Given the description of an element on the screen output the (x, y) to click on. 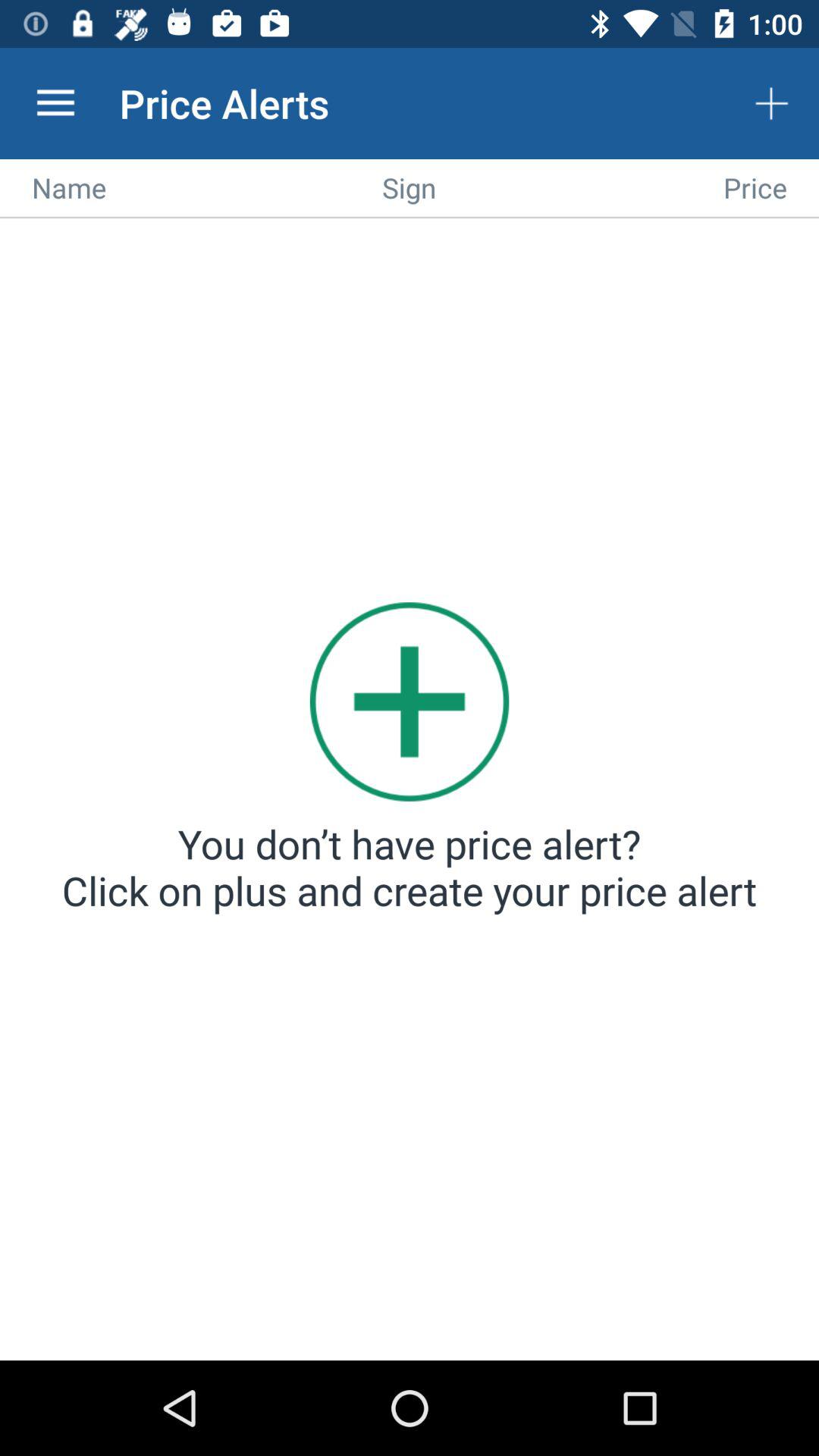
click the item above you don t icon (409, 701)
